Given the description of an element on the screen output the (x, y) to click on. 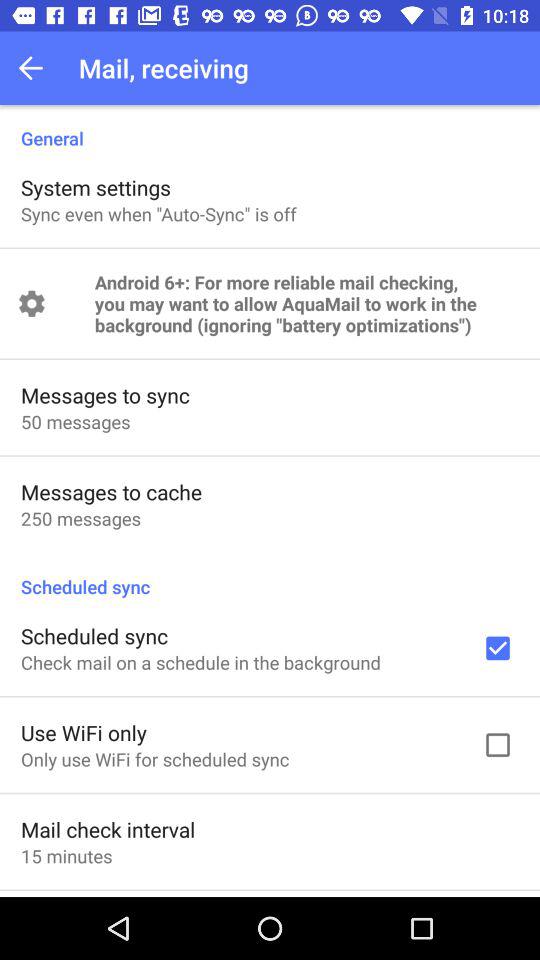
launch item below general icon (95, 187)
